Given the description of an element on the screen output the (x, y) to click on. 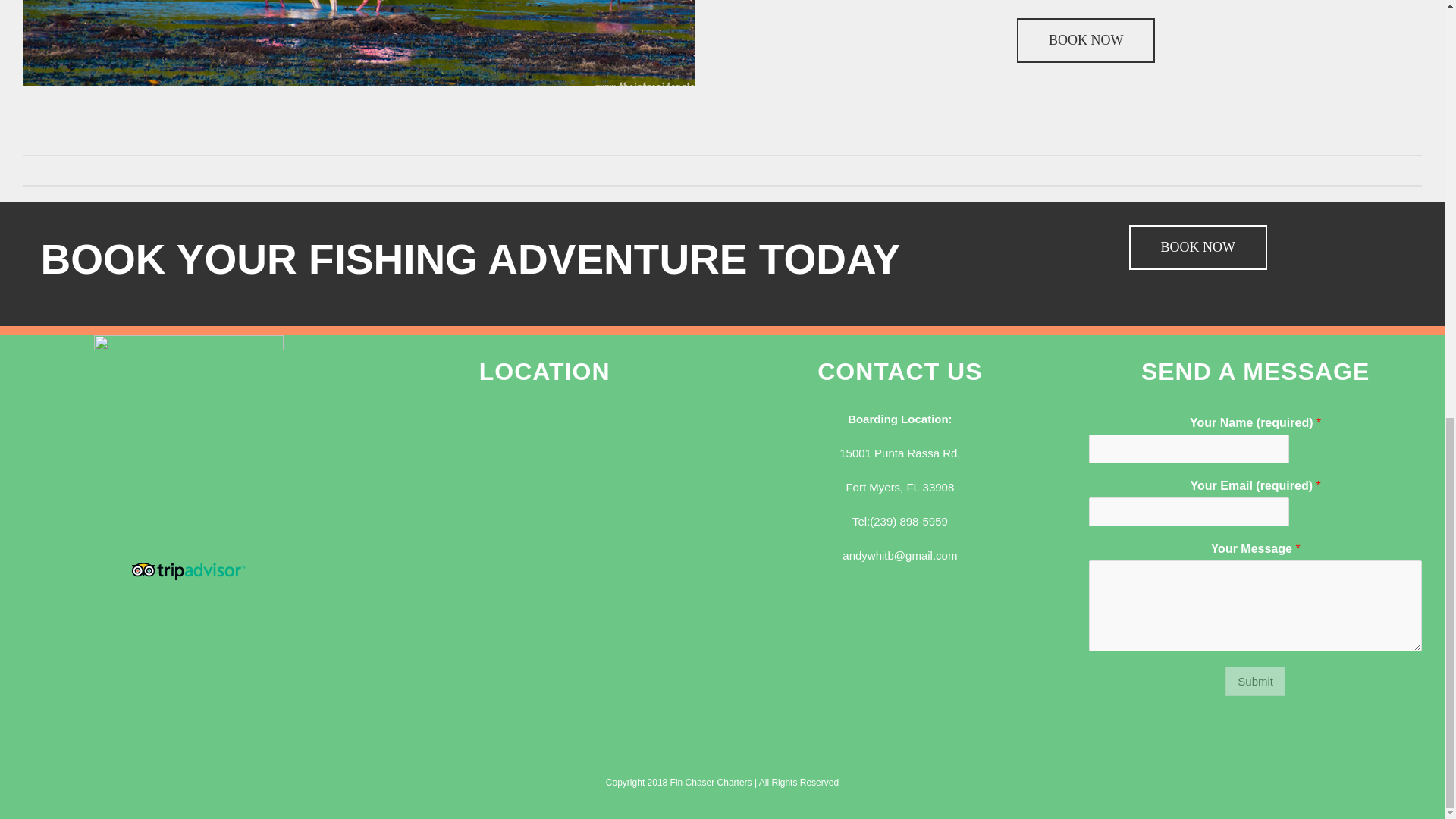
FareHarbor (1342, 29)
BOOK NOW (1198, 247)
Spoonbill feeding WM (326, 30)
